Given the description of an element on the screen output the (x, y) to click on. 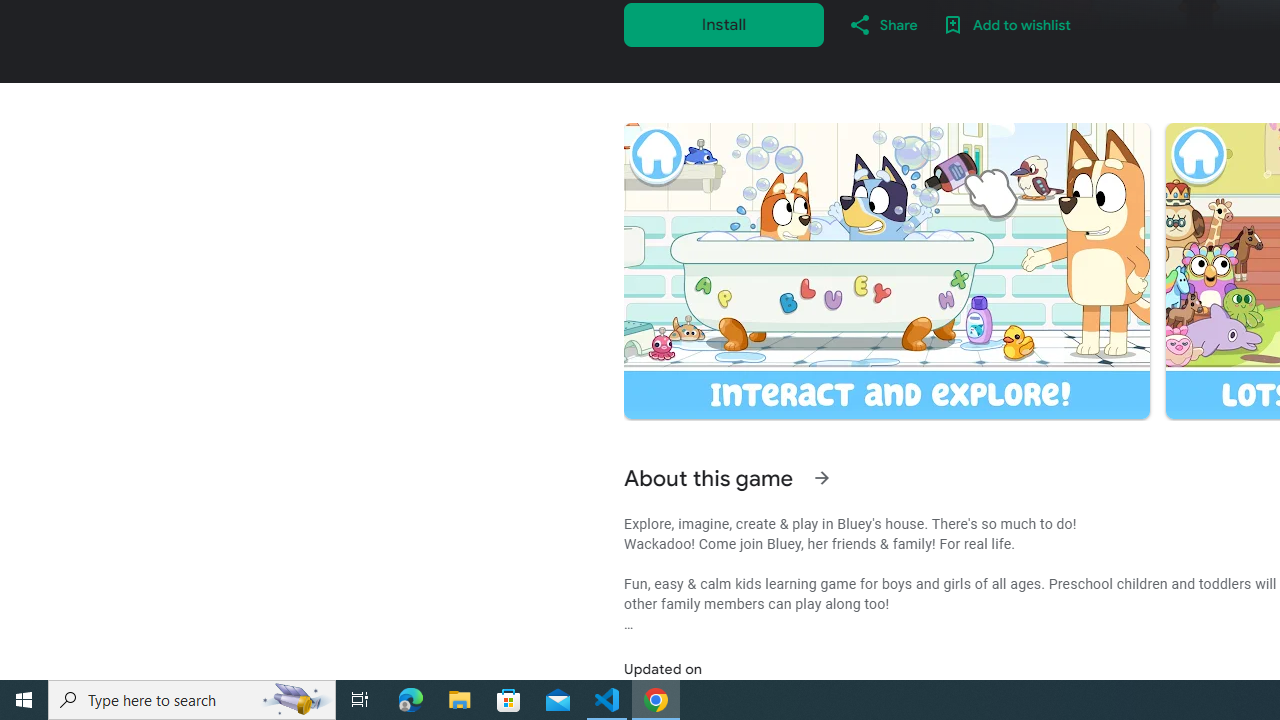
Add to wishlist (1006, 24)
See more information on About this game (821, 477)
Install (723, 24)
Share (881, 24)
Screenshot image (886, 271)
